Given the description of an element on the screen output the (x, y) to click on. 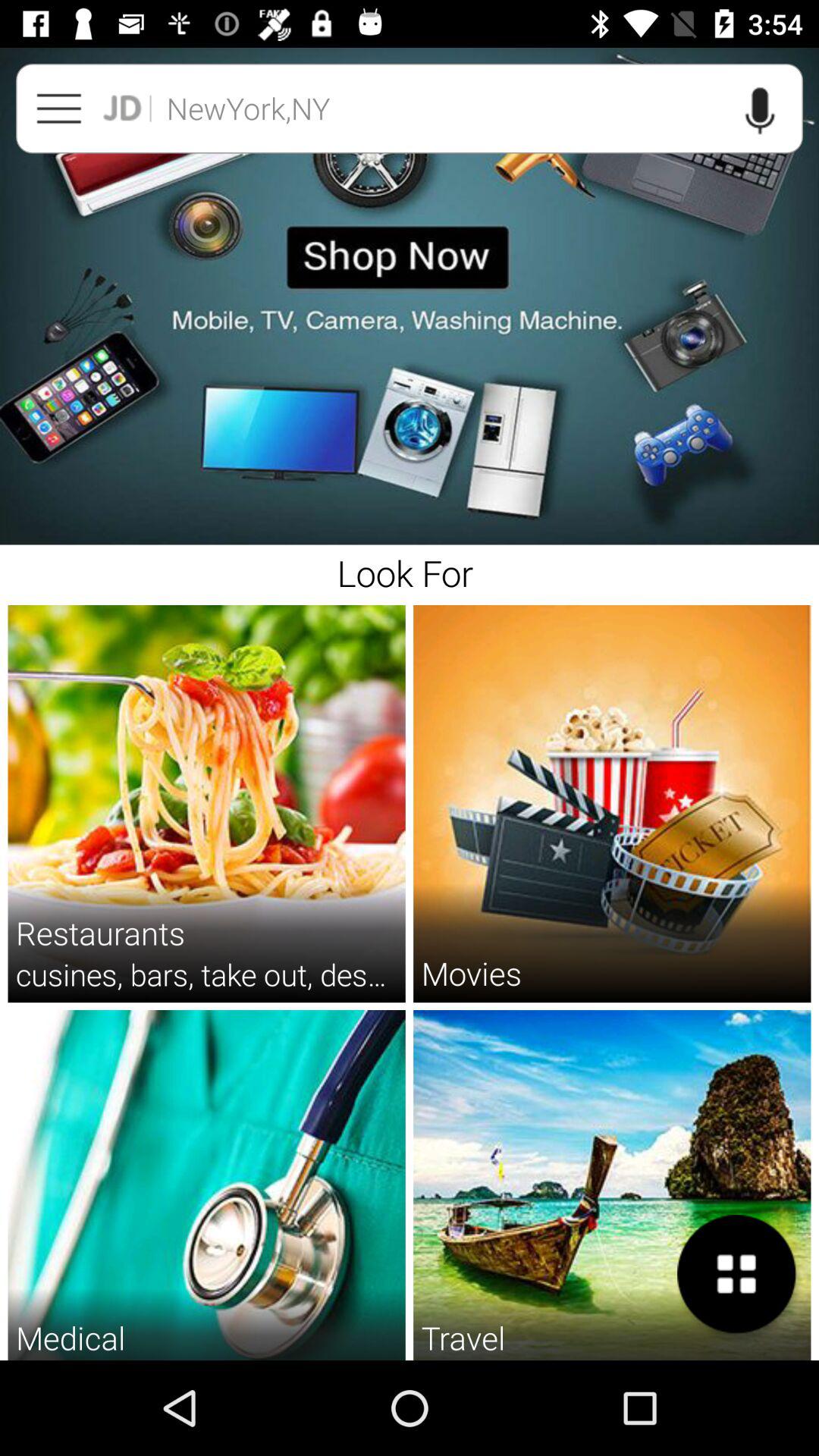
select the restaurants icon (99, 932)
